Given the description of an element on the screen output the (x, y) to click on. 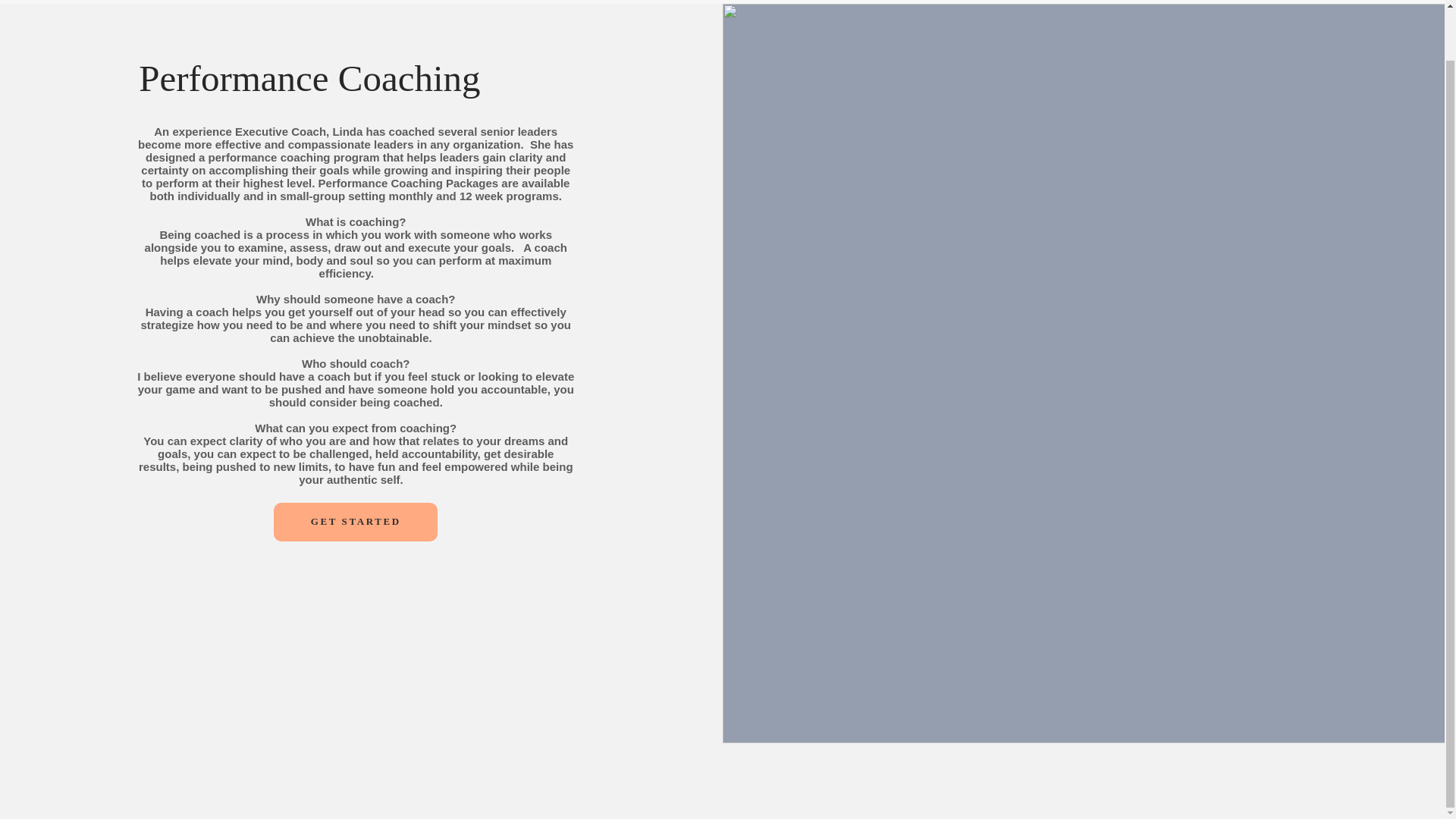
ABOUT (1194, 0)
HOME (979, 0)
GET STARTED (355, 521)
